Given the description of an element on the screen output the (x, y) to click on. 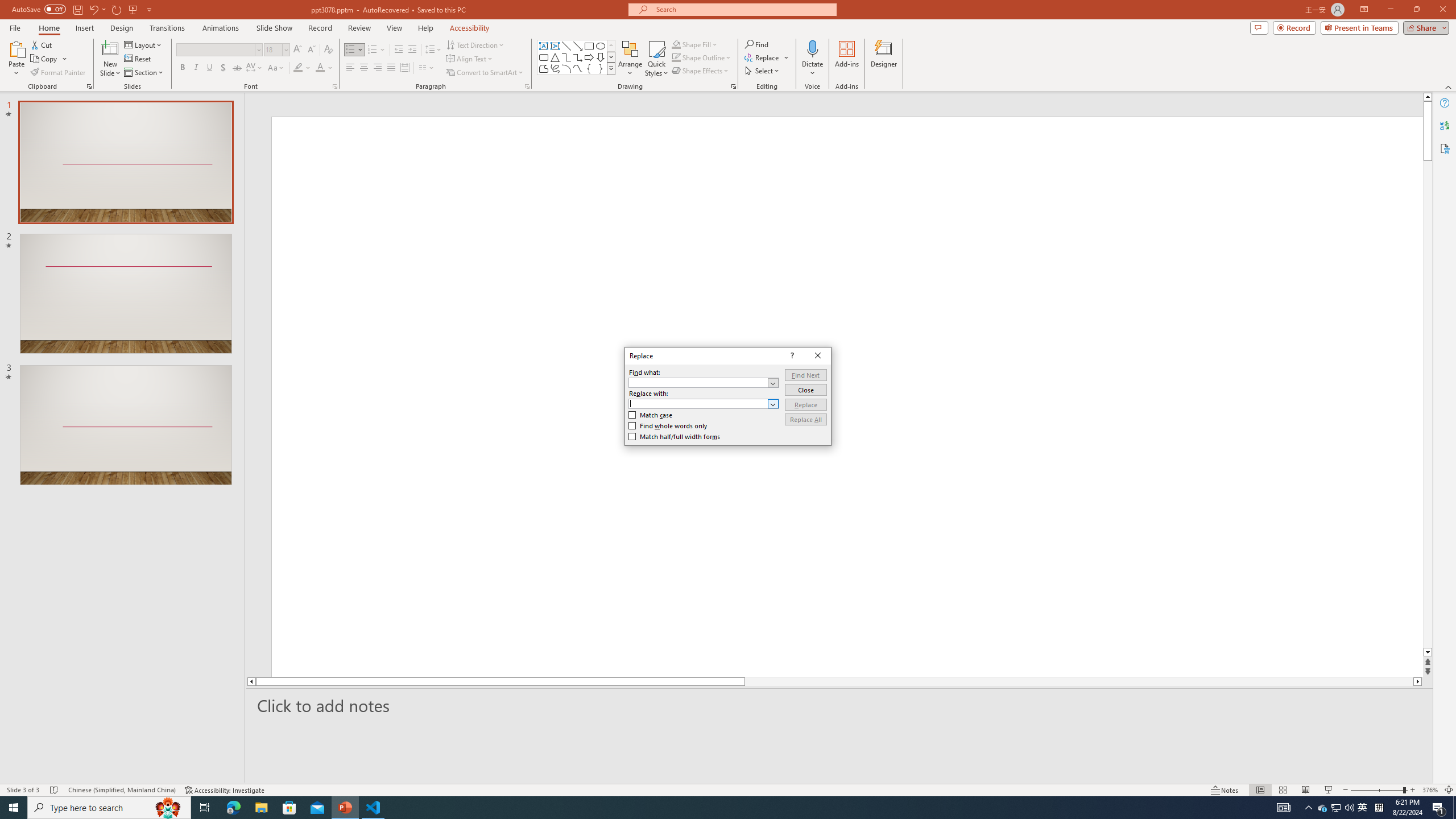
Text Box (543, 45)
Microsoft Store (289, 807)
Visual Studio Code - 1 running window (373, 807)
New Slide (110, 58)
Bullets (349, 49)
Replace All (805, 418)
Decrease Indent (398, 49)
Running applications (700, 807)
Shadow (223, 67)
Align Text (470, 58)
Layout (143, 44)
